Given the description of an element on the screen output the (x, y) to click on. 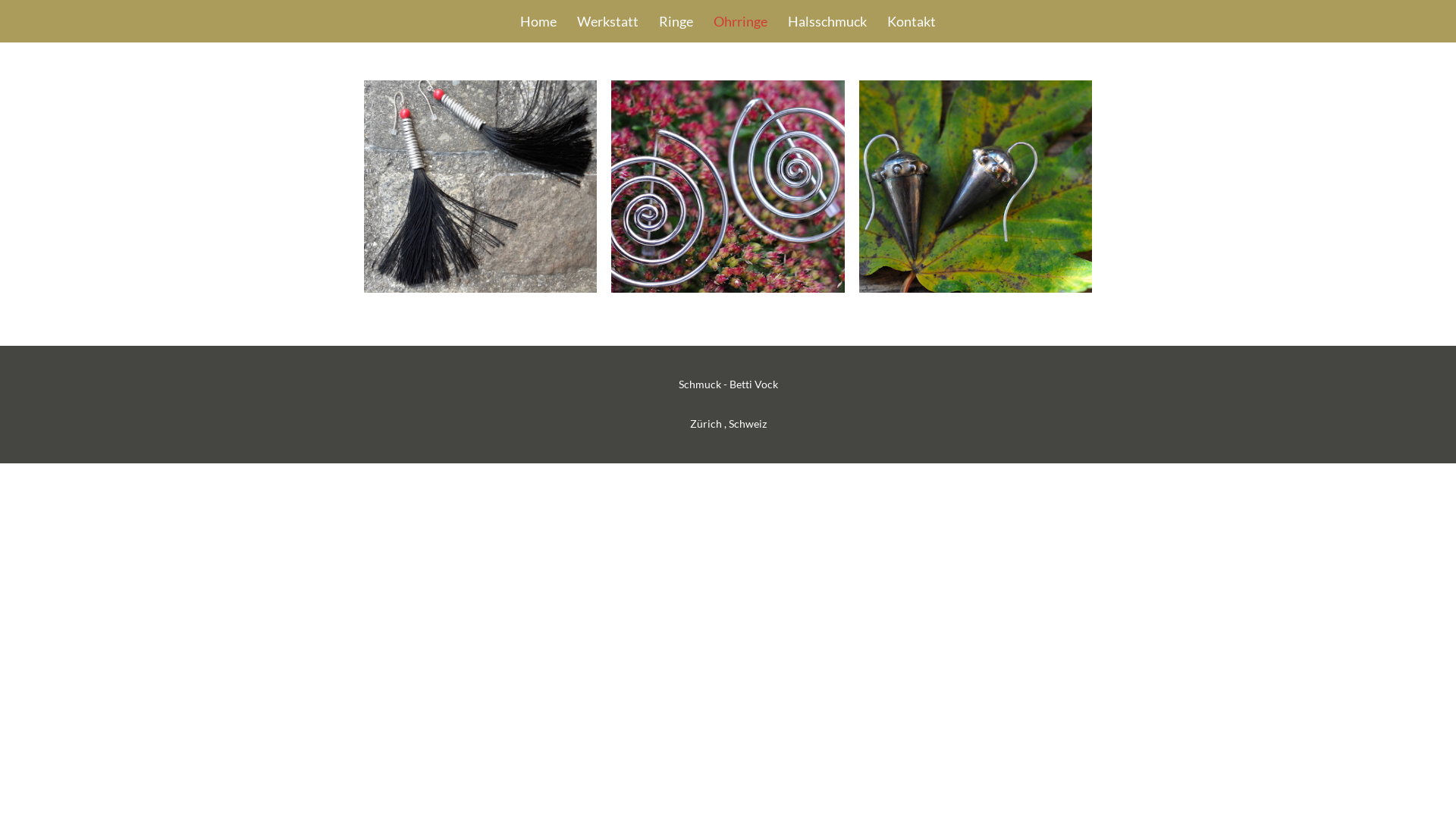
Halsschmuck Element type: text (826, 20)
Kontakt Element type: text (911, 20)
Werkstatt Element type: text (607, 20)
Home Element type: text (538, 20)
Ringe Element type: text (675, 20)
Ohrringe Element type: text (740, 20)
